Given the description of an element on the screen output the (x, y) to click on. 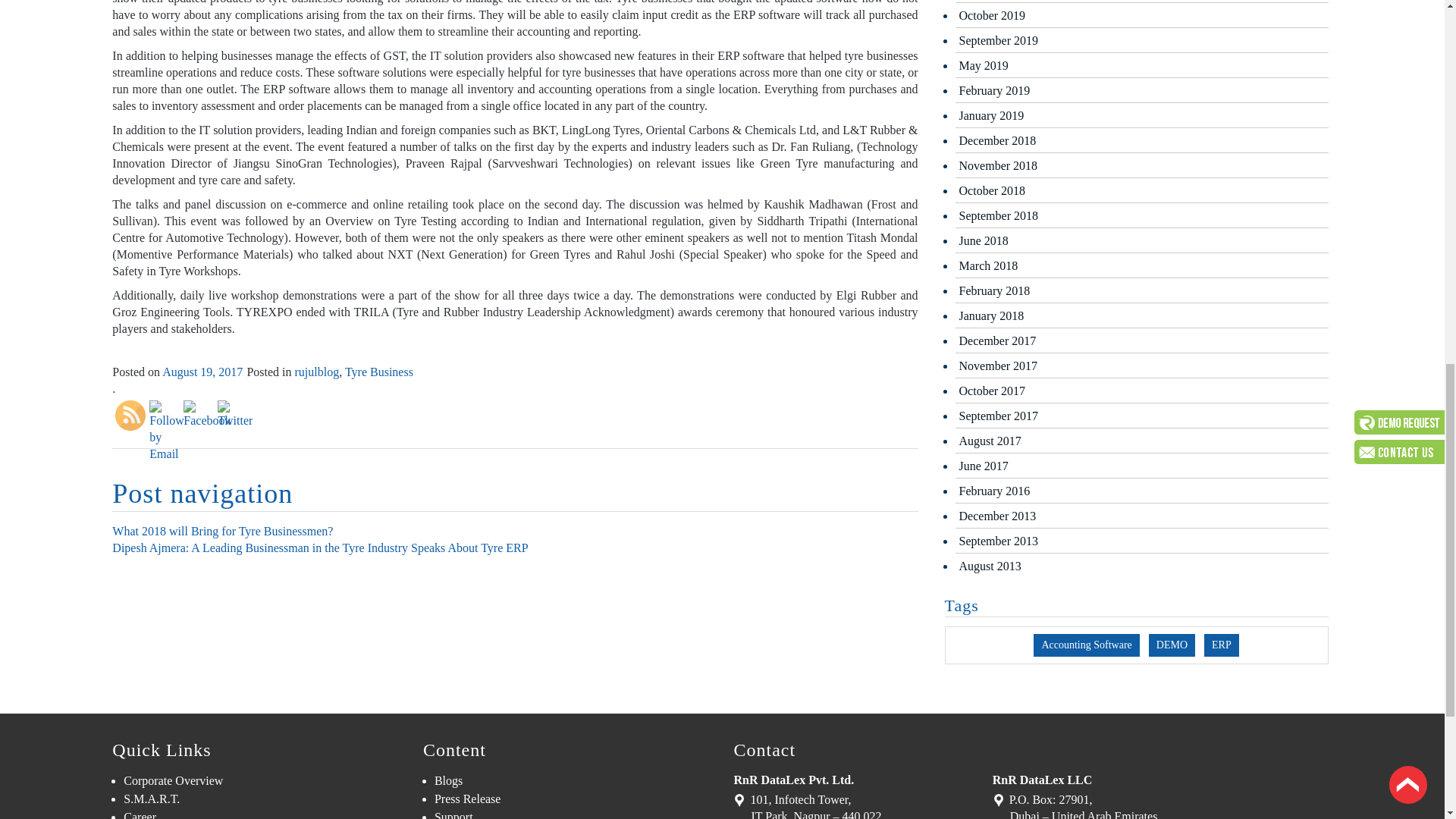
RSS (130, 415)
Facebook (206, 414)
Twitter (233, 414)
